Given the description of an element on the screen output the (x, y) to click on. 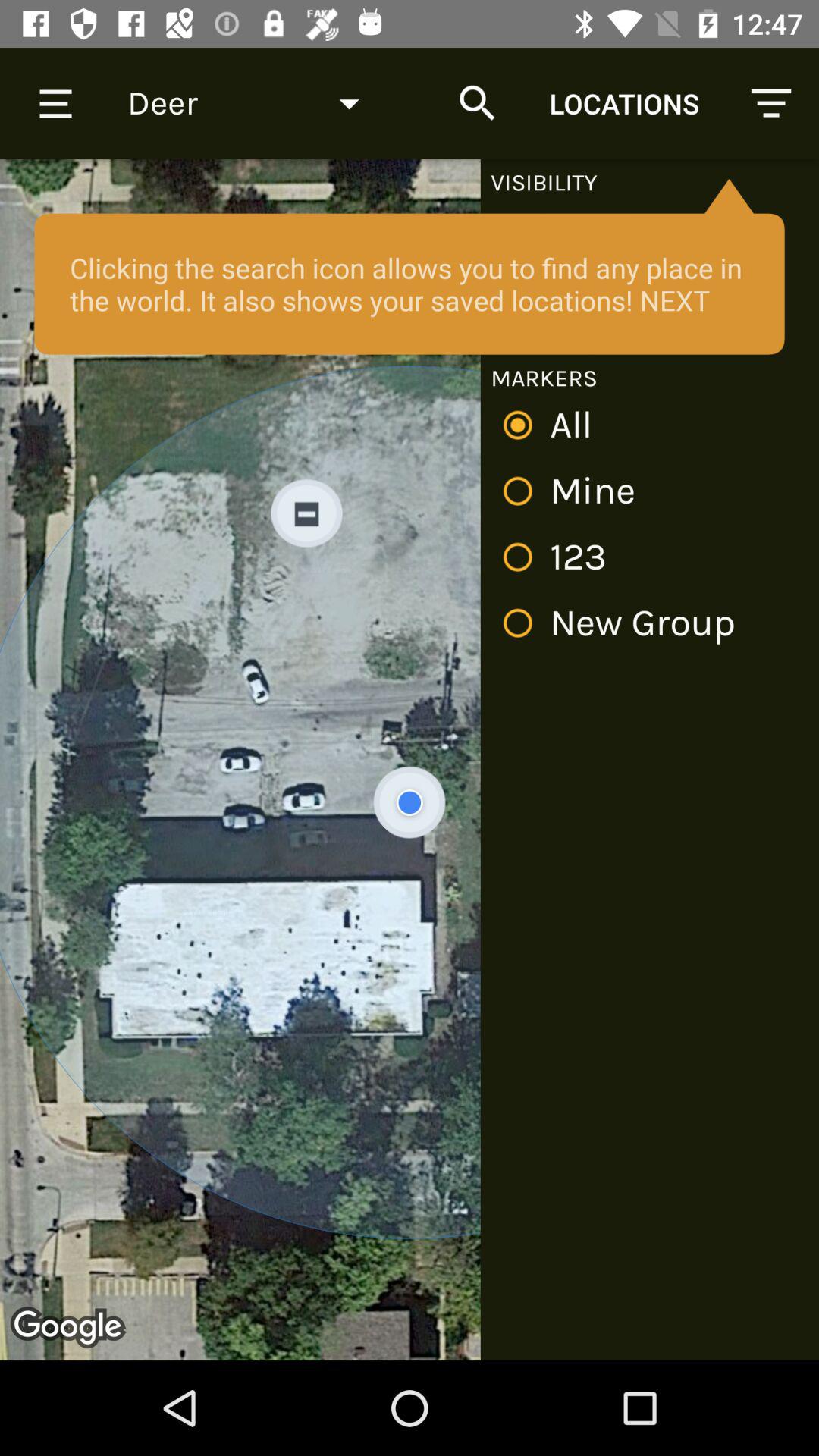
the text google is written at the bottom of the page (69, 1328)
click on last option (624, 623)
select the logo on the web page (69, 1328)
select the option 123 on the web page (560, 557)
